Given the description of an element on the screen output the (x, y) to click on. 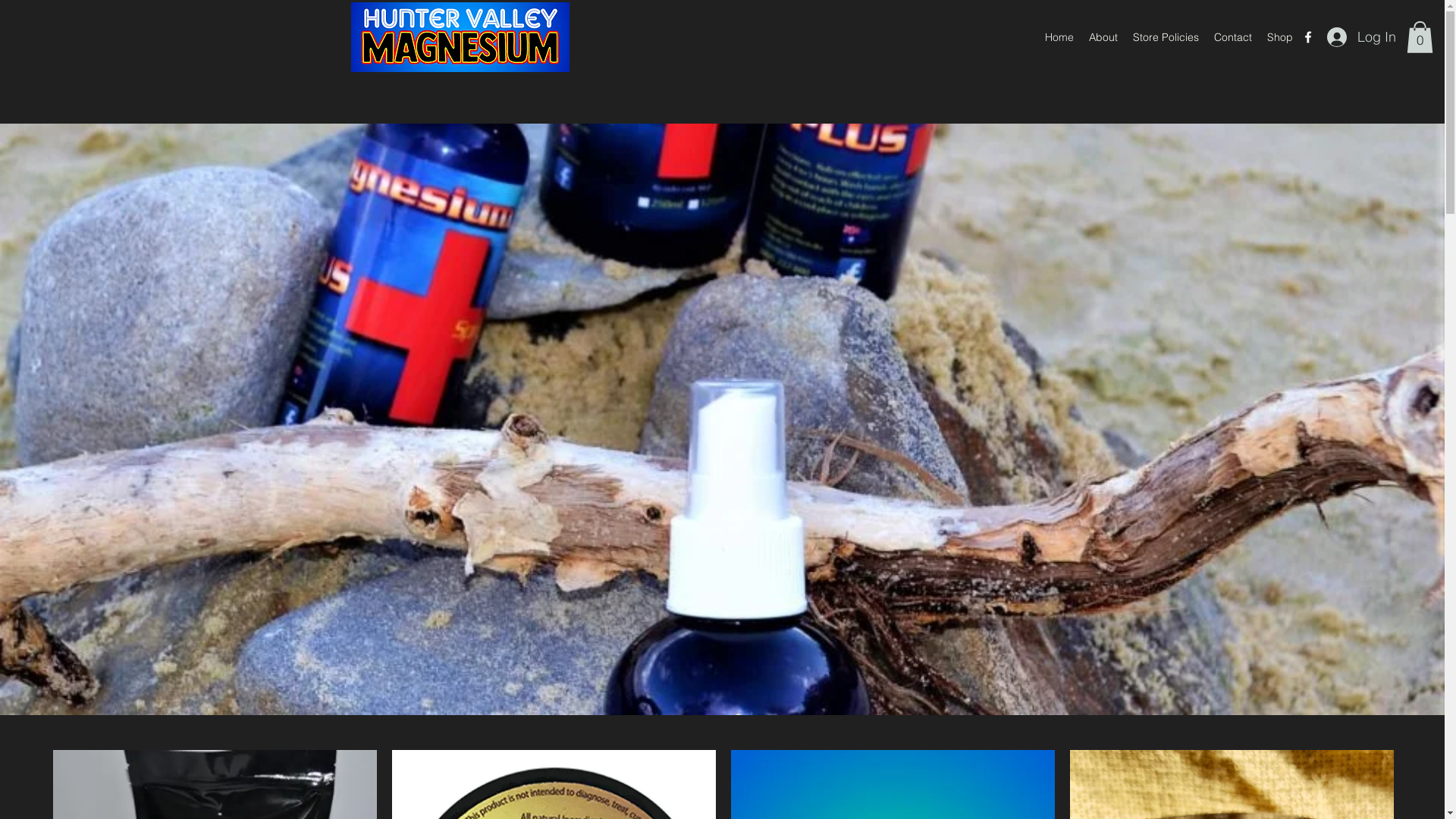
Home Element type: text (1059, 36)
Store Policies Element type: text (1165, 36)
Contact Element type: text (1232, 36)
Log In Element type: text (1361, 36)
About Element type: text (1103, 36)
Shop Element type: text (1279, 36)
0 Element type: text (1419, 37)
